Given the description of an element on the screen output the (x, y) to click on. 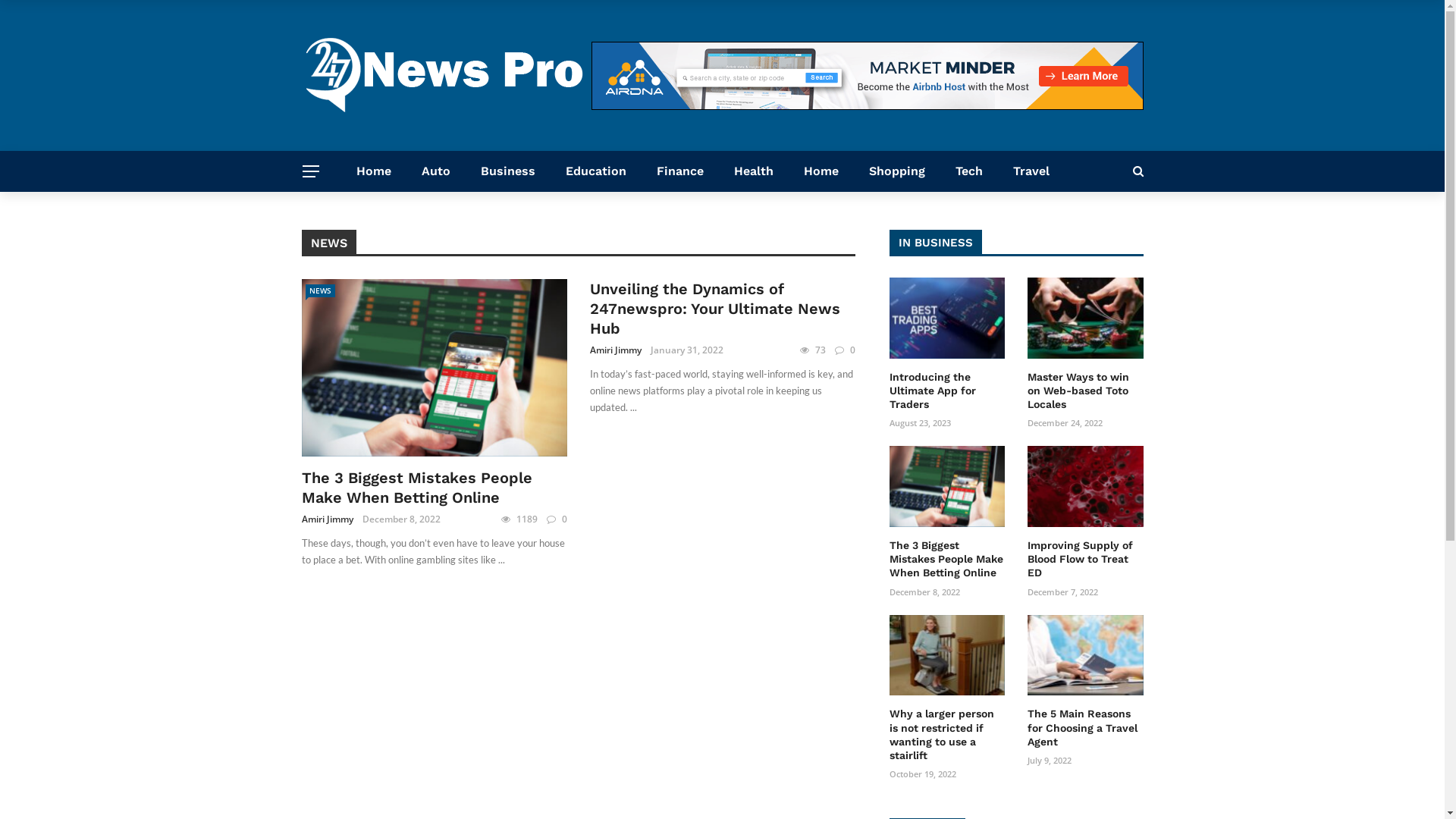
Education Element type: text (595, 170)
Unveiling the Dynamics of 247newspro: Your Ultimate News Hub Element type: text (714, 308)
Tech Element type: text (968, 170)
Introducing the Ultimate App for Traders Element type: text (931, 390)
Shopping Element type: text (896, 170)
Business Element type: text (507, 170)
Auto Element type: text (435, 170)
The 5 Main Reasons for Choosing a Travel Agent Element type: text (1082, 726)
Finance Element type: text (679, 170)
Home Element type: text (373, 170)
Home Element type: text (820, 170)
The 3 Biggest Mistakes People Make When Betting Online Element type: text (945, 558)
Health Element type: text (753, 170)
Amiri Jimmy Element type: text (615, 349)
The 3 Biggest Mistakes People Make When Betting Online Element type: text (416, 487)
Amiri Jimmy Element type: text (327, 518)
Travel Element type: text (1030, 170)
NEWS Element type: text (319, 290)
Improving Supply of Blood Flow to Treat ED Element type: text (1079, 558)
Master Ways to win on Web-based Toto Locales Element type: text (1078, 390)
